Given the description of an element on the screen output the (x, y) to click on. 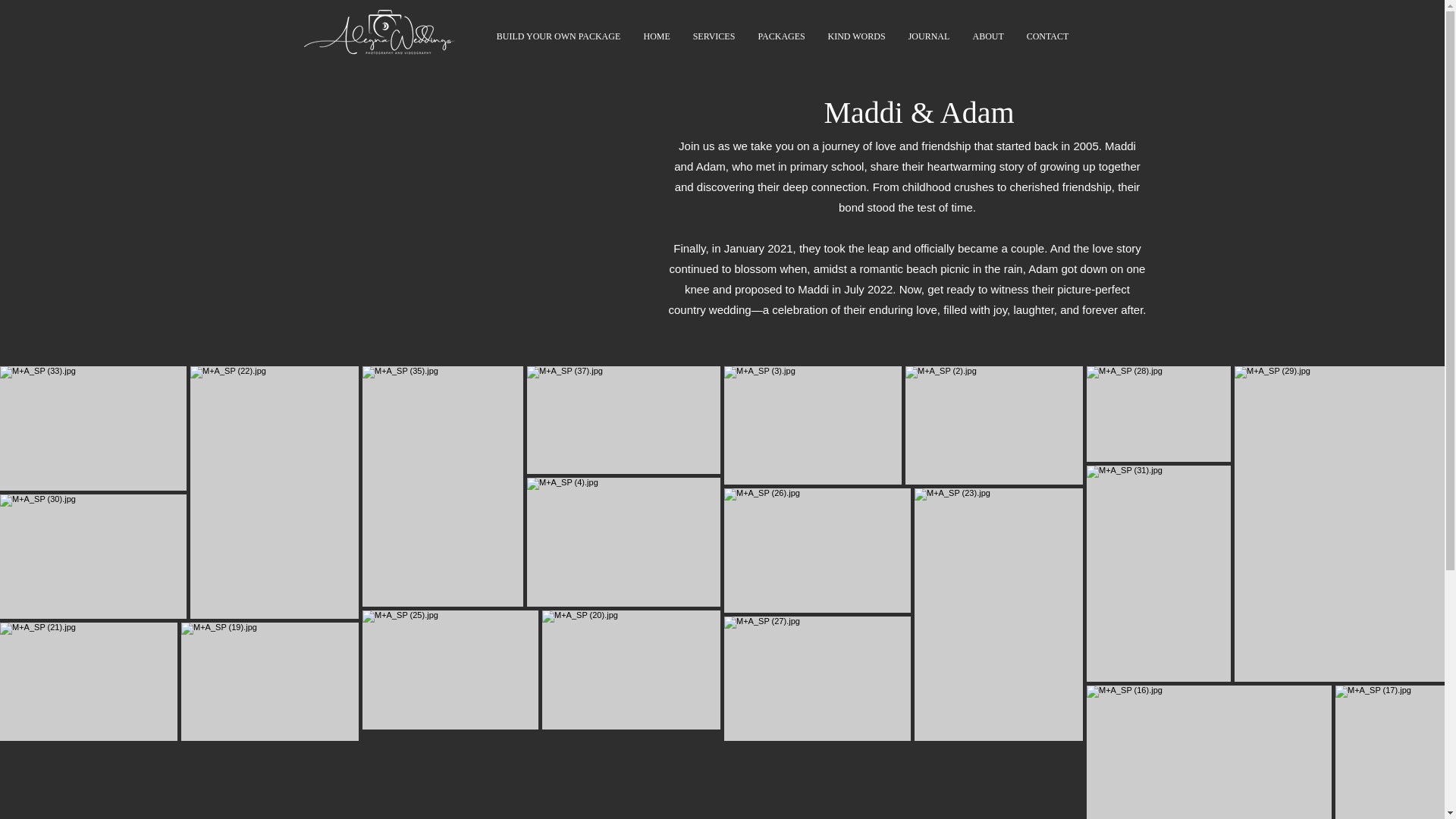
PACKAGES (780, 36)
CONTACT (1047, 36)
ABOUT (987, 36)
JOURNAL (928, 36)
HOME (656, 36)
KIND WORDS (855, 36)
BUILD YOUR OWN PACKAGE (557, 36)
